Given the description of an element on the screen output the (x, y) to click on. 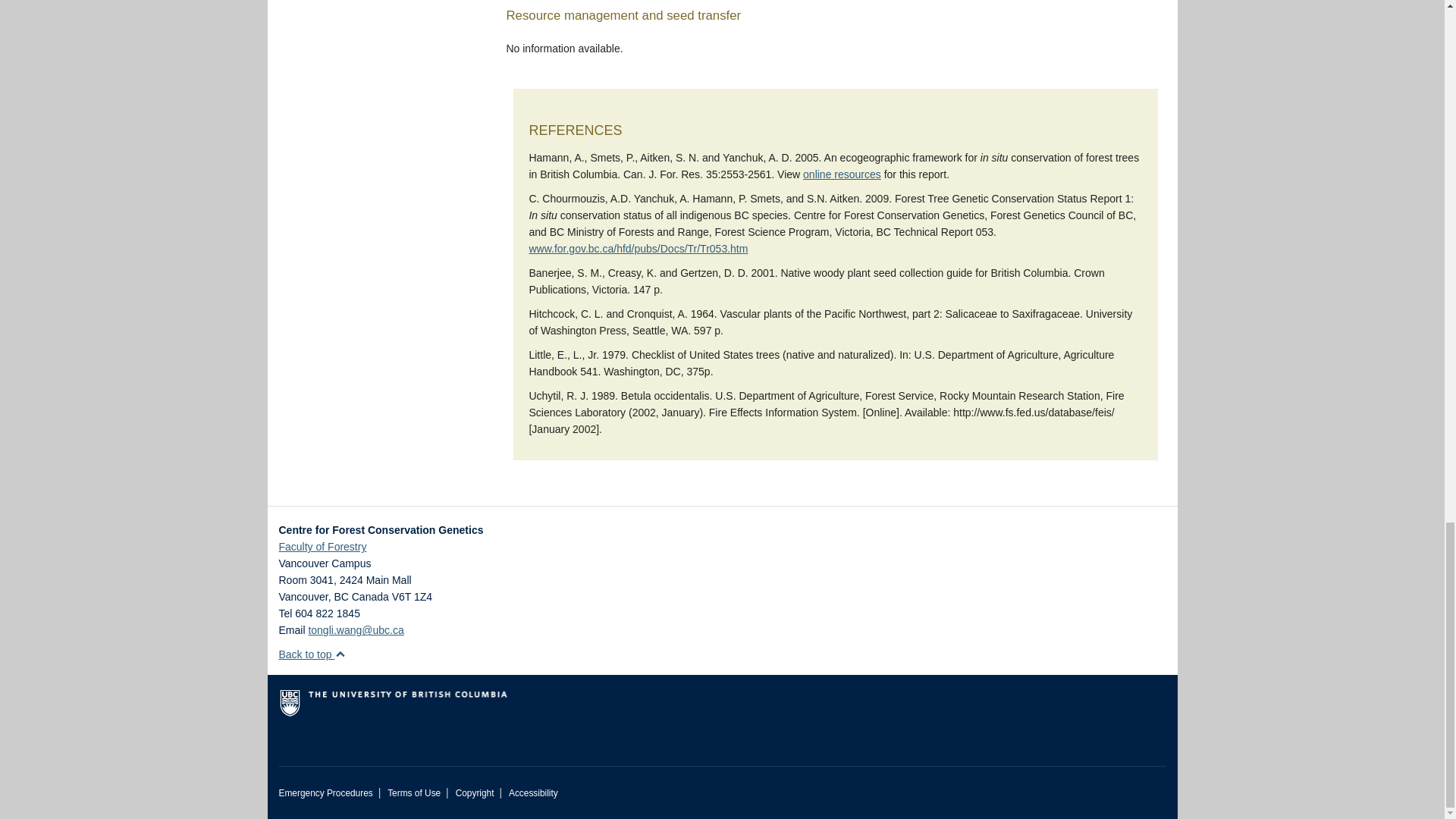
Terms of Use (414, 792)
Back to top (312, 654)
Accessibility (532, 792)
Emergency Procedures (325, 792)
UBC Copyright (475, 792)
